Given the description of an element on the screen output the (x, y) to click on. 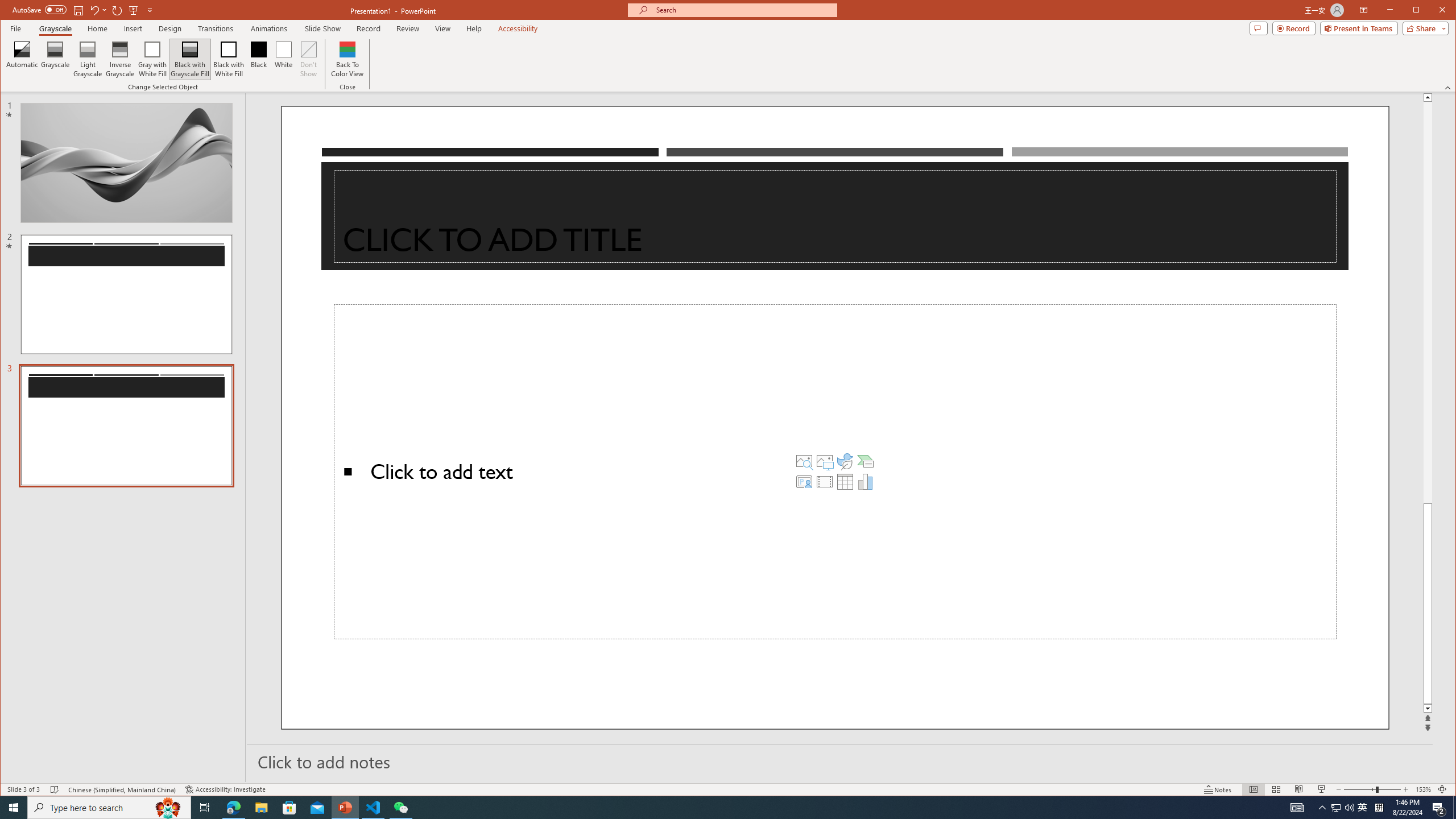
Slide (1335, 807)
Class: MsoCommandBar (125, 425)
Grayscale (728, 789)
Insert an Icon (55, 59)
Visual Studio Code - 1 running window (844, 461)
Search highlights icon opens search home window (373, 807)
Gray with White Fill (167, 807)
Title TextBox (152, 59)
